Given the description of an element on the screen output the (x, y) to click on. 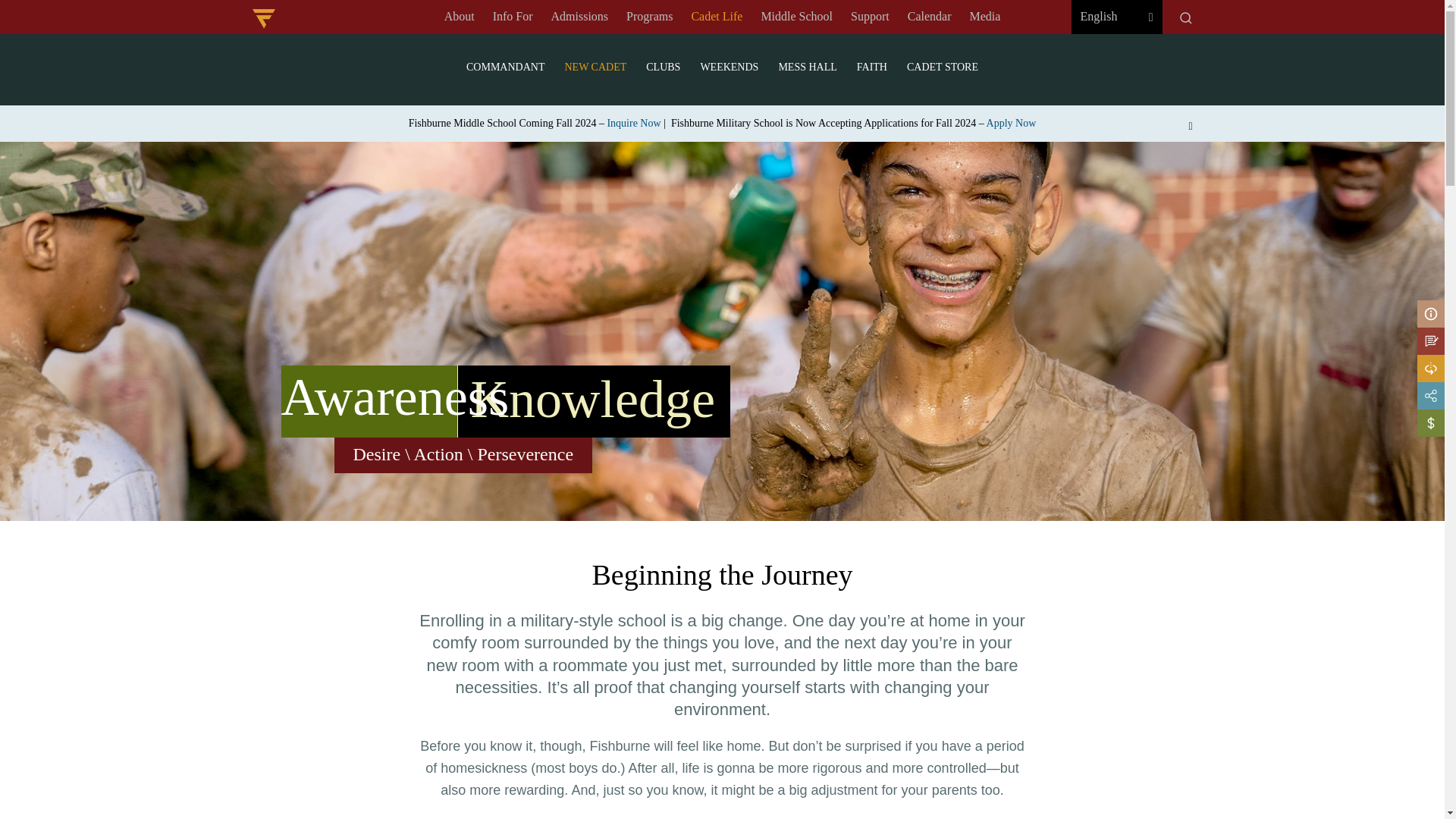
Admissions (579, 16)
Info For (512, 16)
About (459, 16)
